Given the description of an element on the screen output the (x, y) to click on. 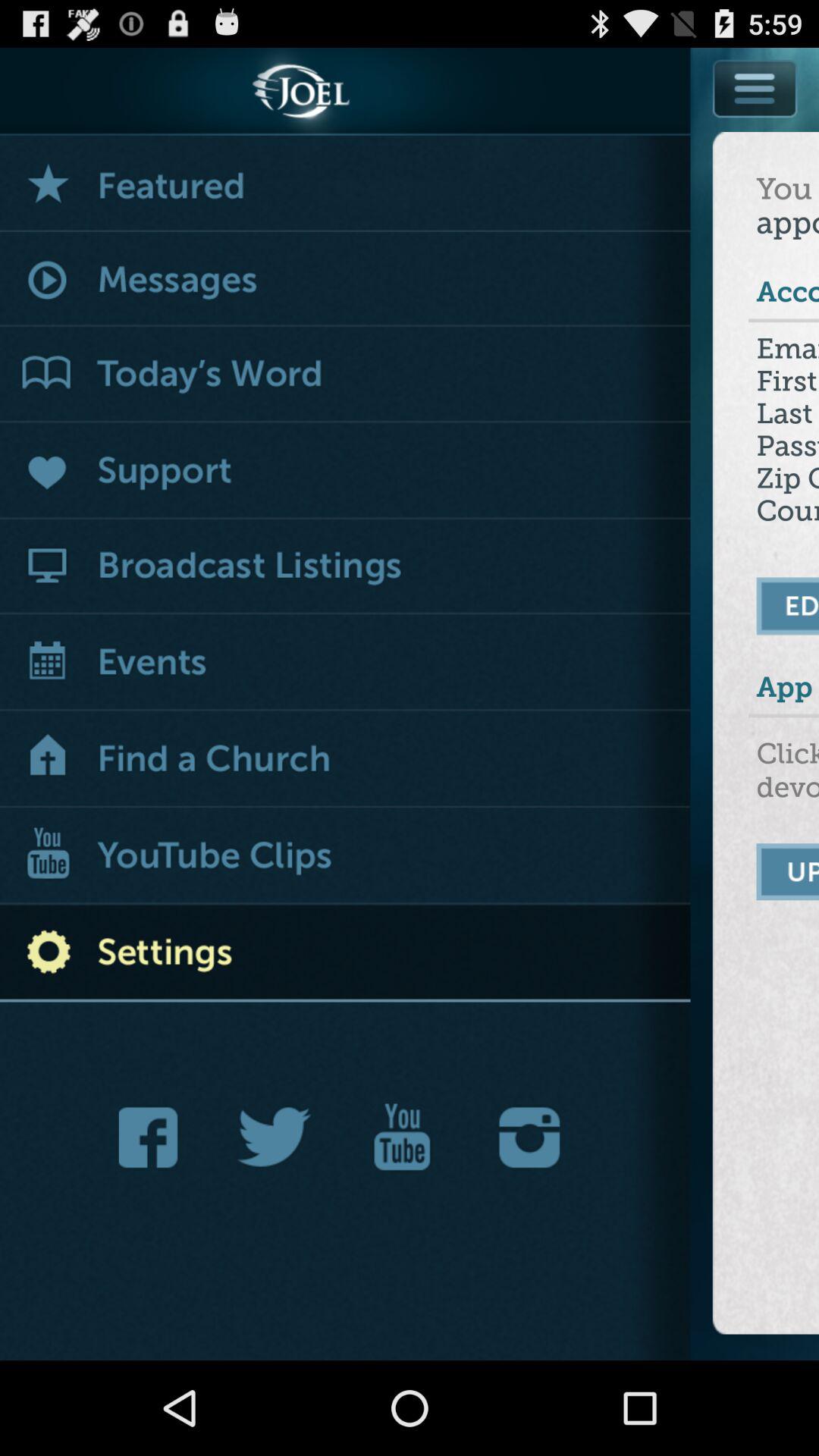
view joel 's event schedule (345, 663)
